Given the description of an element on the screen output the (x, y) to click on. 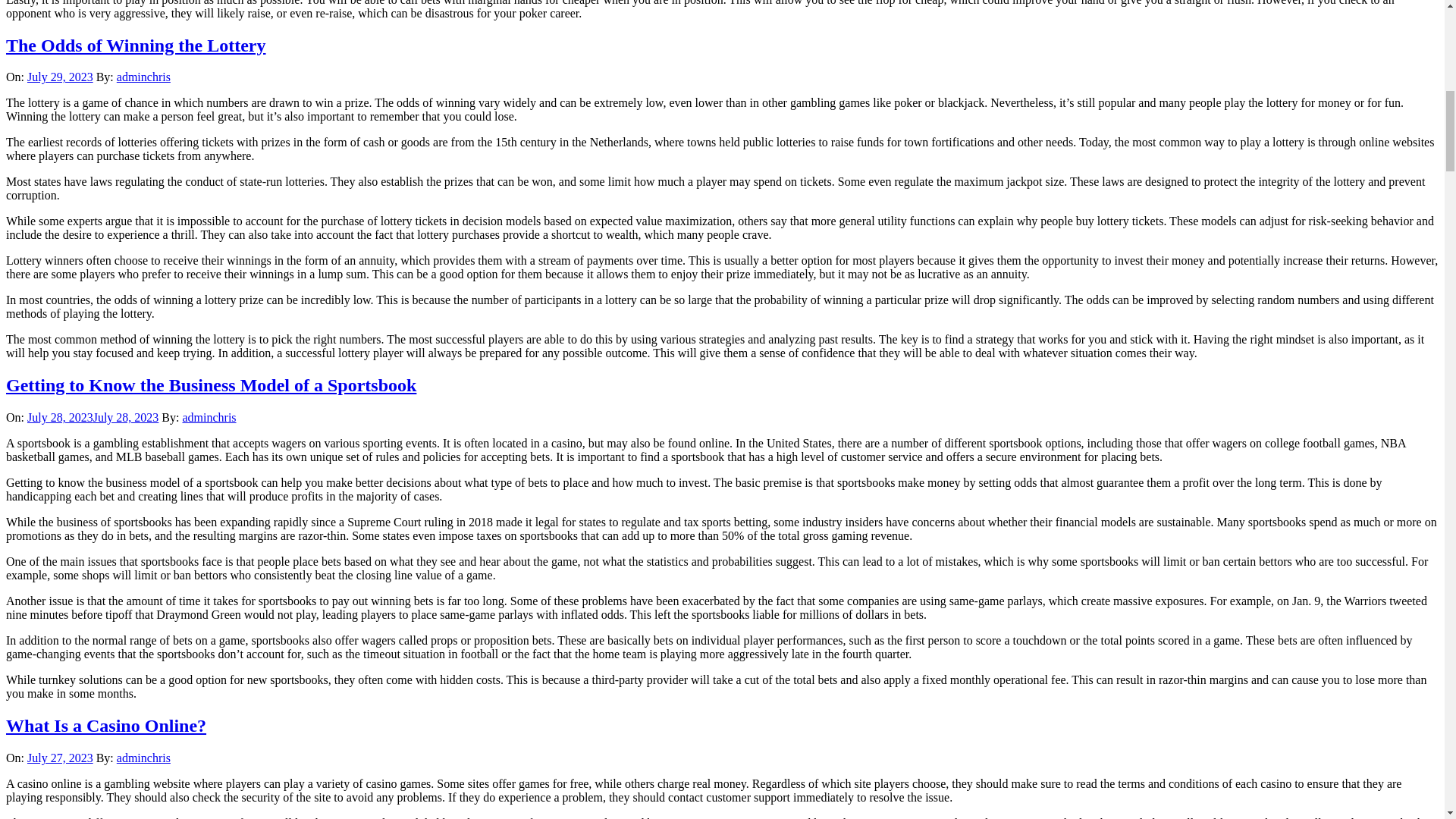
adminchris (143, 76)
The Odds of Winning the Lottery (135, 44)
July 28, 2023July 28, 2023 (92, 417)
Getting to Know the Business Model of a Sportsbook (210, 384)
July 27, 2023 (60, 757)
adminchris (208, 417)
adminchris (143, 757)
What Is a Casino Online? (105, 725)
July 29, 2023 (60, 76)
